Given the description of an element on the screen output the (x, y) to click on. 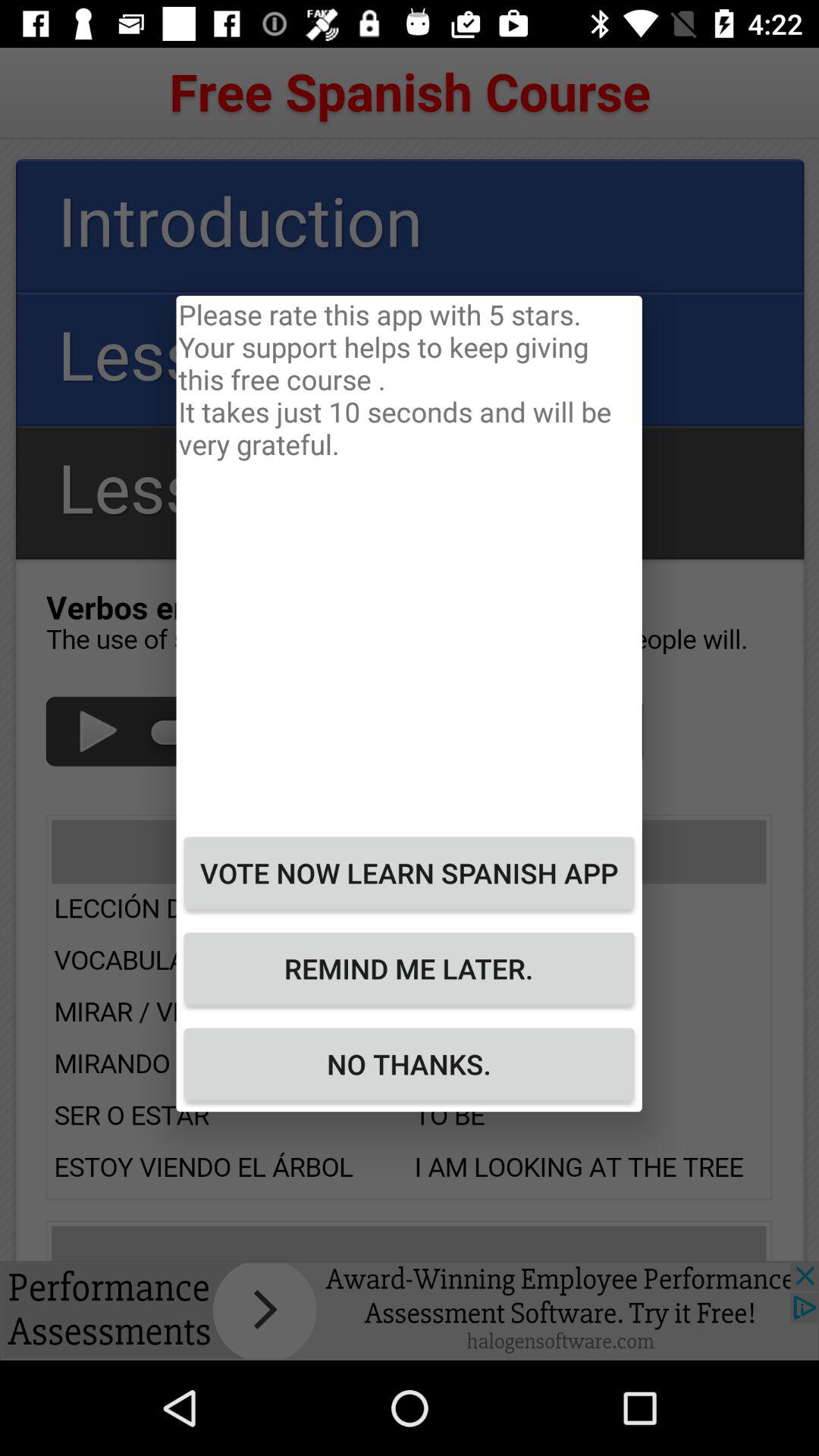
turn on remind me later. icon (409, 968)
